Given the description of an element on the screen output the (x, y) to click on. 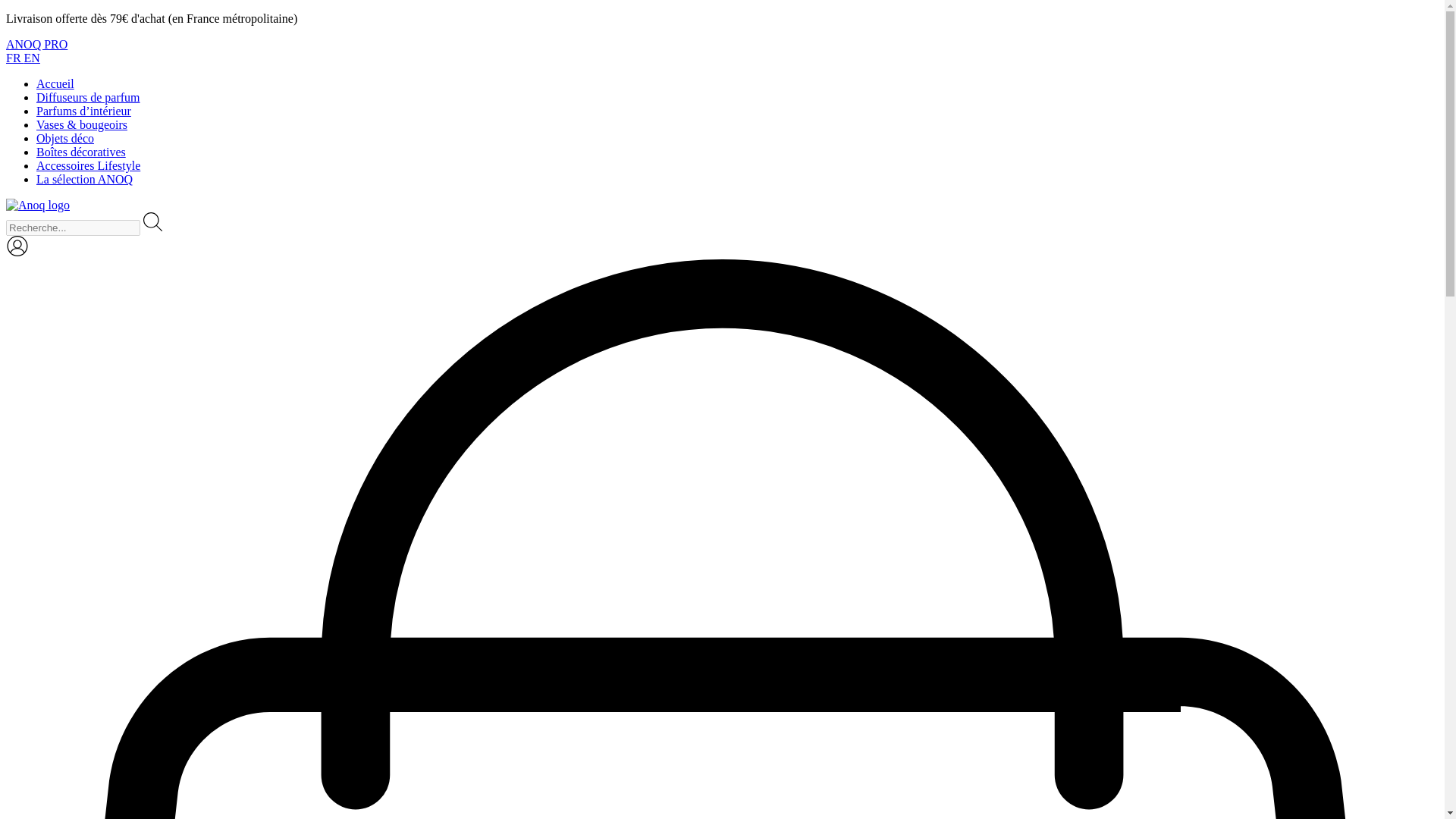
ANOQ PRO (35, 43)
Accessoires Lifestyle (87, 164)
FR (14, 57)
Accueil (55, 83)
EN (32, 57)
Diffuseurs de parfum (87, 97)
